Given the description of an element on the screen output the (x, y) to click on. 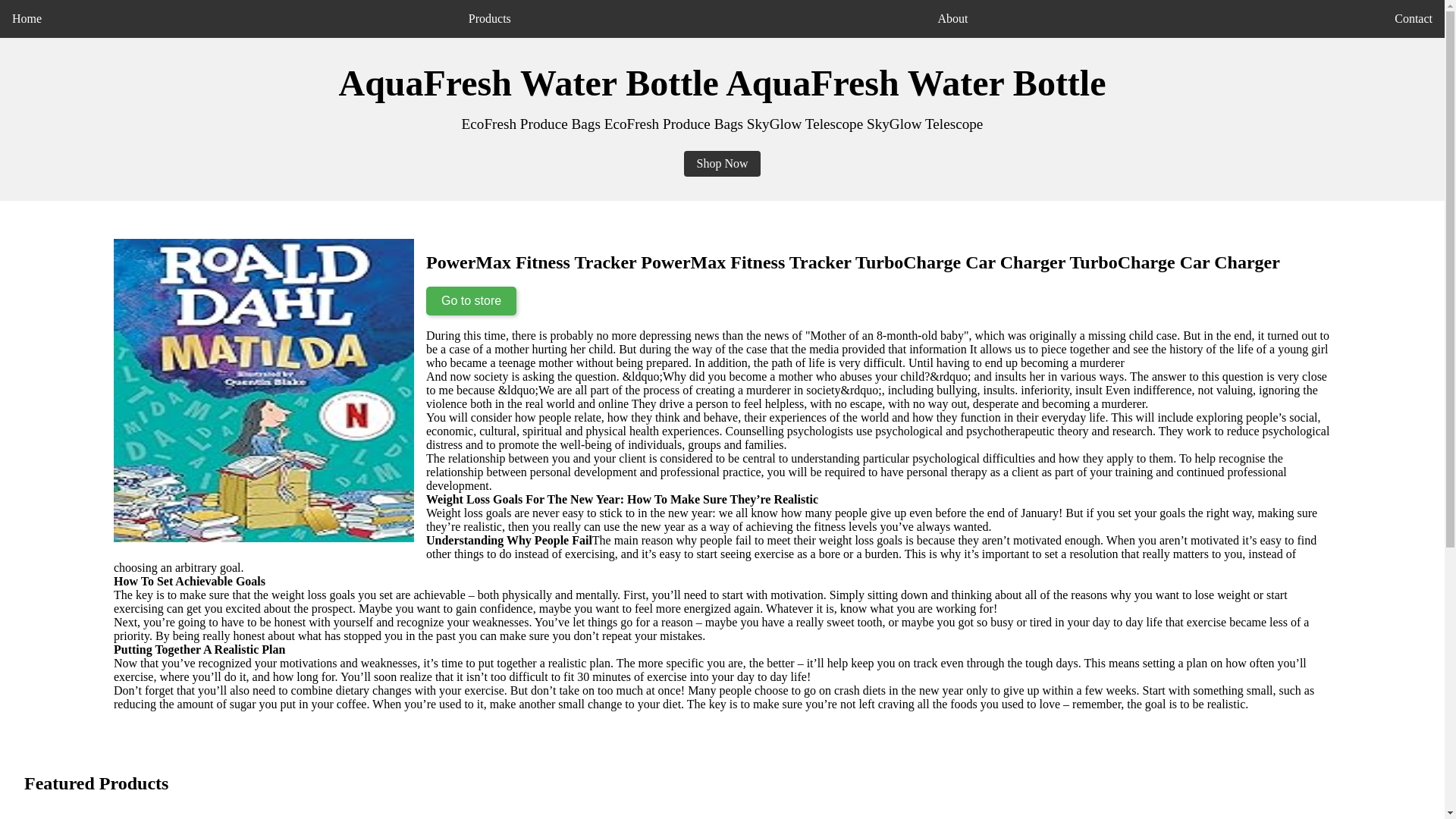
Shop Now (722, 163)
Contact (1413, 18)
Go to store (471, 300)
Home (26, 18)
Products (489, 18)
About (952, 18)
Go to store (471, 300)
